Given the description of an element on the screen output the (x, y) to click on. 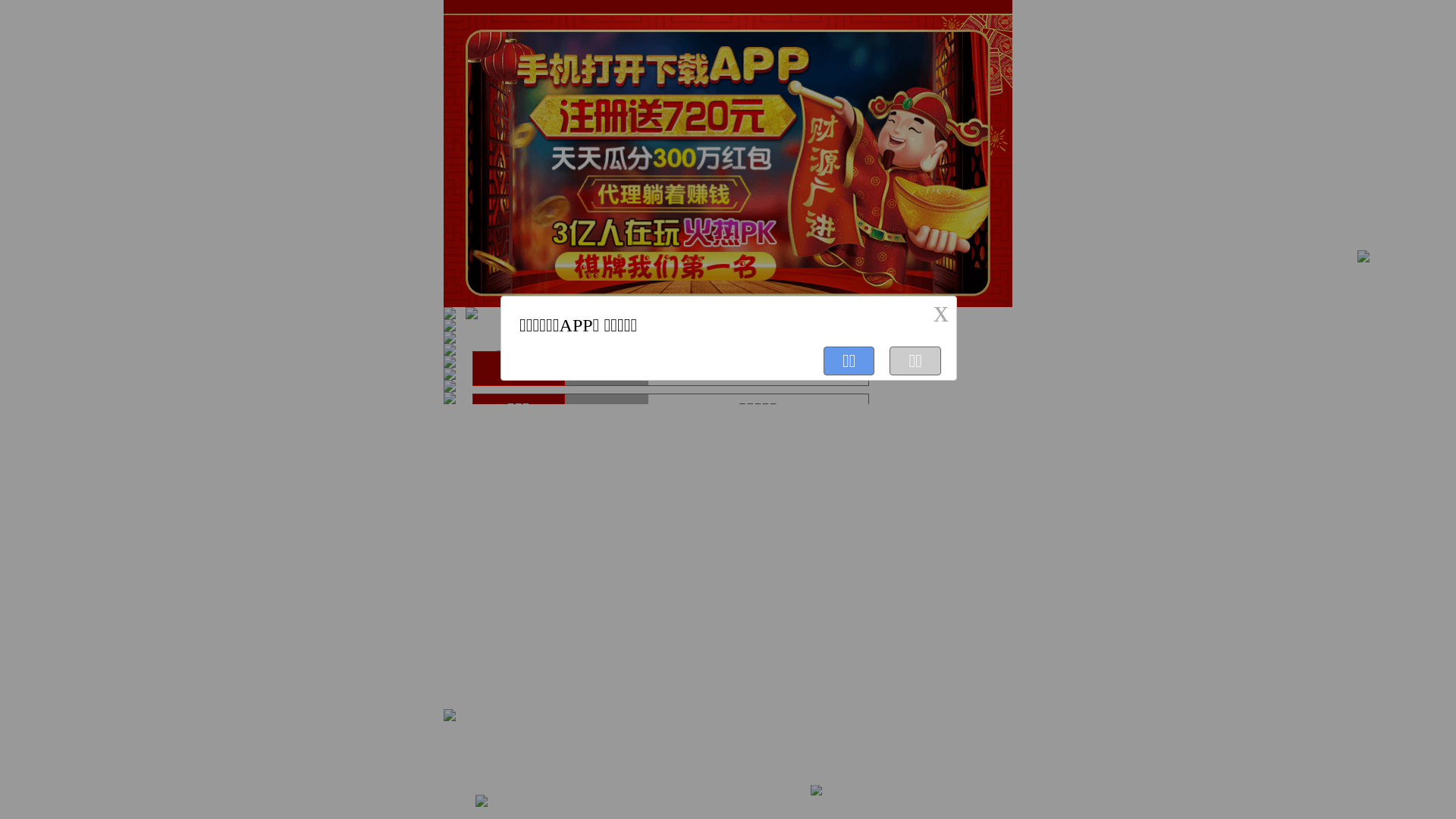
x Element type: text (940, 311)
